Given the description of an element on the screen output the (x, y) to click on. 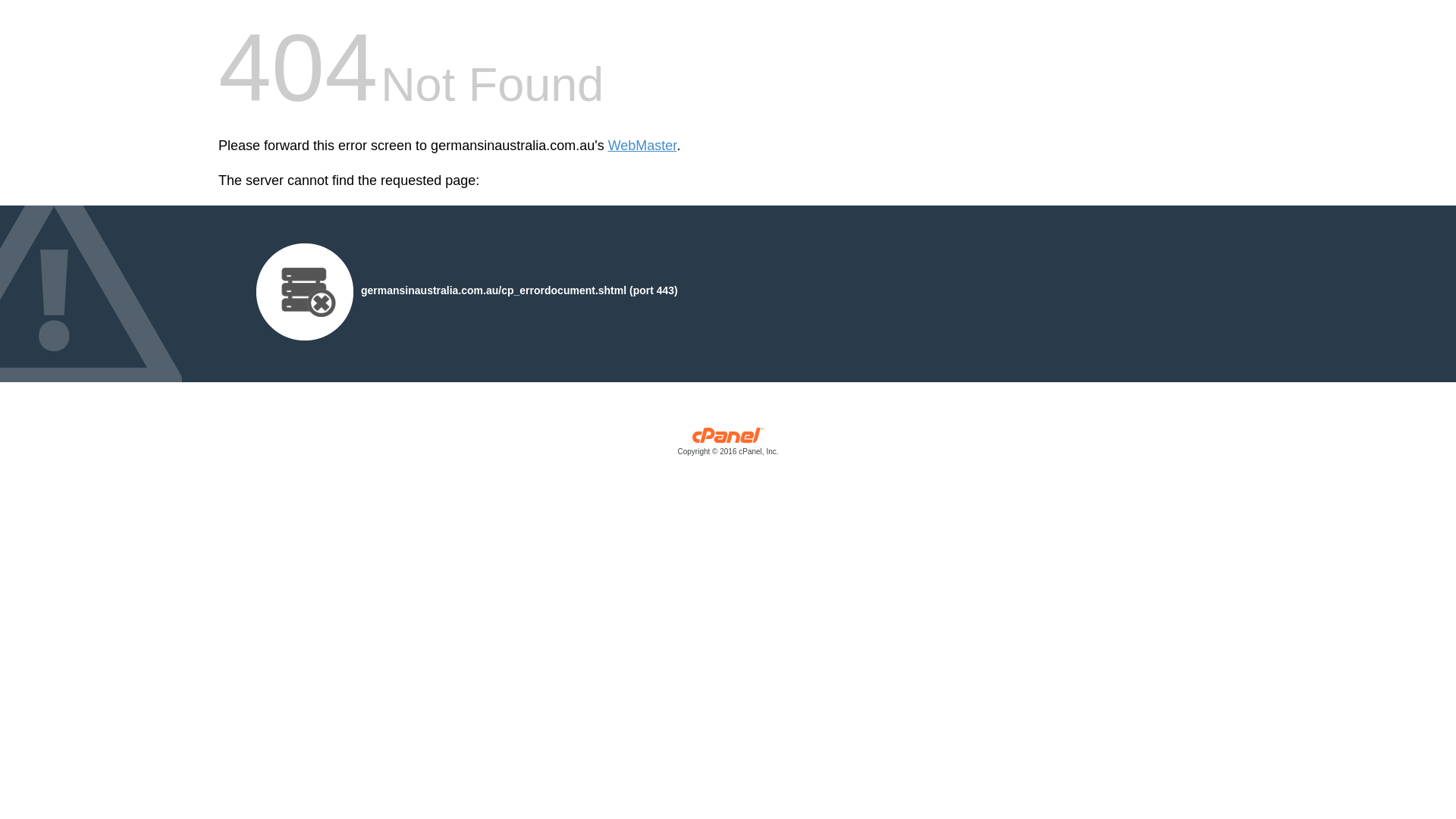
WebMaster Element type: text (642, 145)
